Given the description of an element on the screen output the (x, y) to click on. 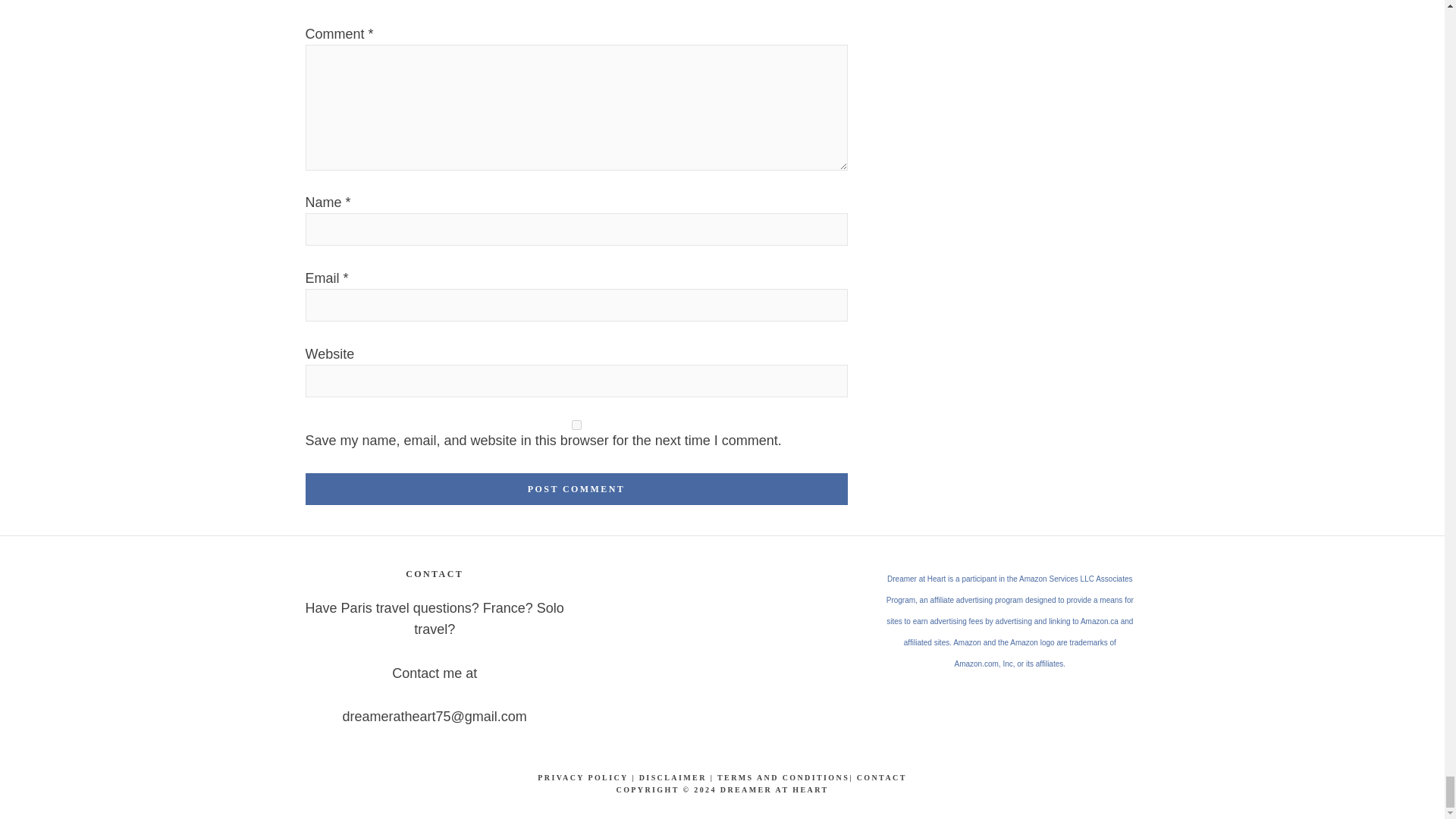
yes (575, 424)
Post Comment (575, 489)
